Given the description of an element on the screen output the (x, y) to click on. 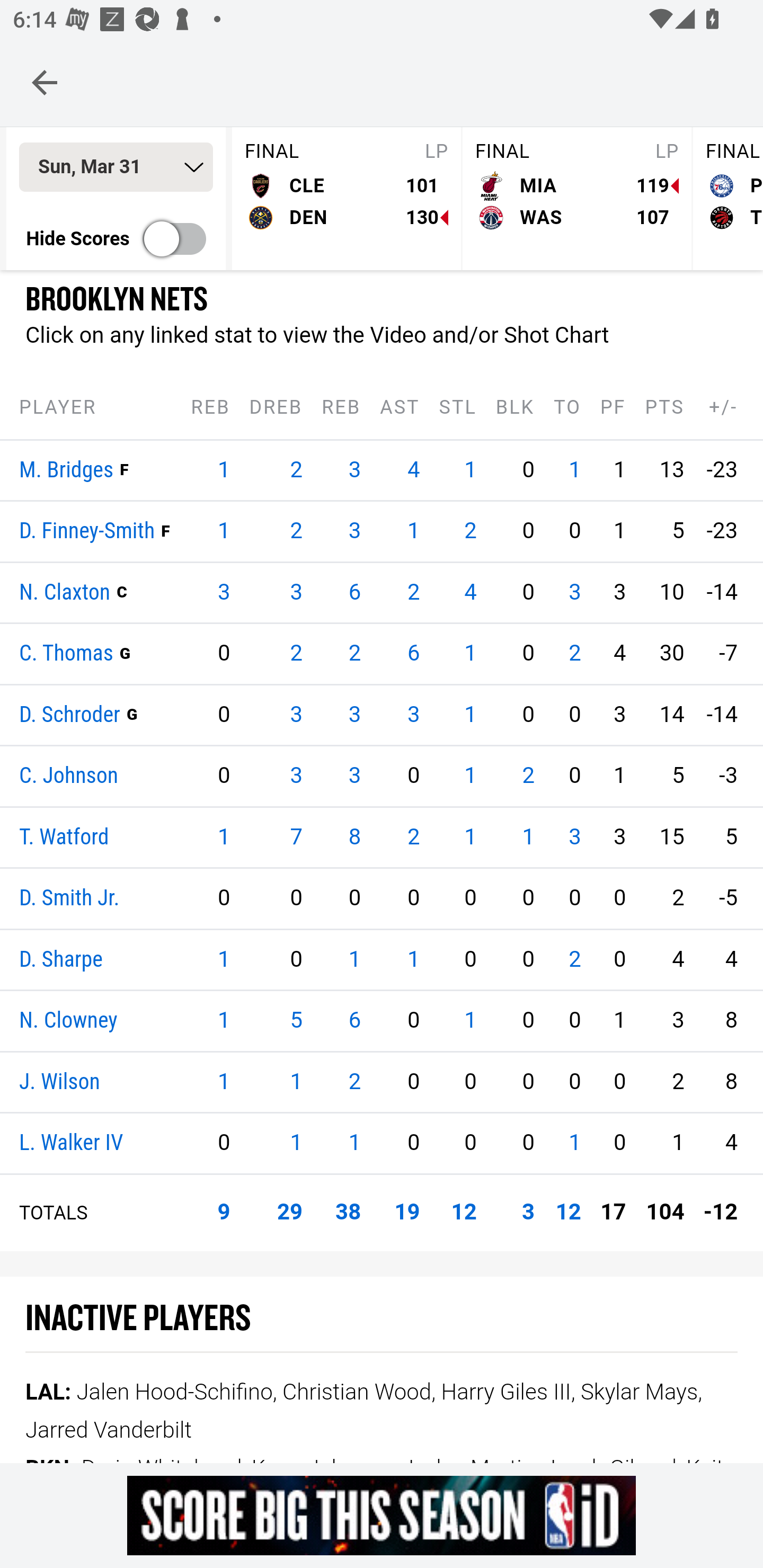
Navigate up (44, 82)
Sun, Mar 31 (115, 168)
M. Bridges M .  Bridges (66, 470)
1 (222, 470)
2 (296, 470)
3 (354, 470)
4 (413, 470)
1 (469, 470)
1 (574, 470)
D. Finney-Smith D .  Finney-Smith (87, 532)
1 (222, 531)
2 (296, 531)
3 (354, 531)
1 (413, 531)
2 (469, 531)
N. Claxton N .  Claxton (65, 592)
3 (222, 592)
3 (296, 592)
6 (354, 592)
2 (413, 592)
4 (469, 592)
3 (574, 592)
C. Thomas C .  Thomas (66, 654)
2 (296, 653)
2 (354, 653)
6 (413, 653)
1 (469, 653)
2 (574, 653)
D. Schroder D .  Schroder (69, 714)
3 (296, 714)
3 (354, 714)
3 (413, 714)
1 (469, 714)
C. Johnson C .  Johnson (69, 776)
3 (296, 776)
3 (354, 776)
1 (469, 776)
2 (528, 776)
T. Watford T .  Watford (64, 837)
1 (222, 837)
7 (296, 837)
8 (354, 837)
2 (413, 837)
1 (469, 837)
1 (528, 837)
3 (574, 837)
D. Smith Jr. D .  Smith Jr. (69, 899)
D. Sharpe D .  Sharpe (61, 959)
1 (222, 959)
1 (354, 959)
1 (413, 959)
2 (574, 959)
N. Clowney N .  Clowney (68, 1022)
1 (222, 1021)
5 (296, 1021)
6 (354, 1021)
1 (469, 1021)
J. Wilson J .  Wilson (59, 1081)
1 (222, 1081)
1 (296, 1081)
2 (354, 1081)
L. Walker IV L .  Walker IV (71, 1144)
1 (296, 1143)
1 (354, 1143)
1 (574, 1143)
9 (222, 1212)
29 (289, 1212)
38 (348, 1212)
19 (407, 1212)
12 (463, 1212)
3 (528, 1212)
12 (567, 1212)
g5nqqygr7owph (381, 1515)
